Given the description of an element on the screen output the (x, y) to click on. 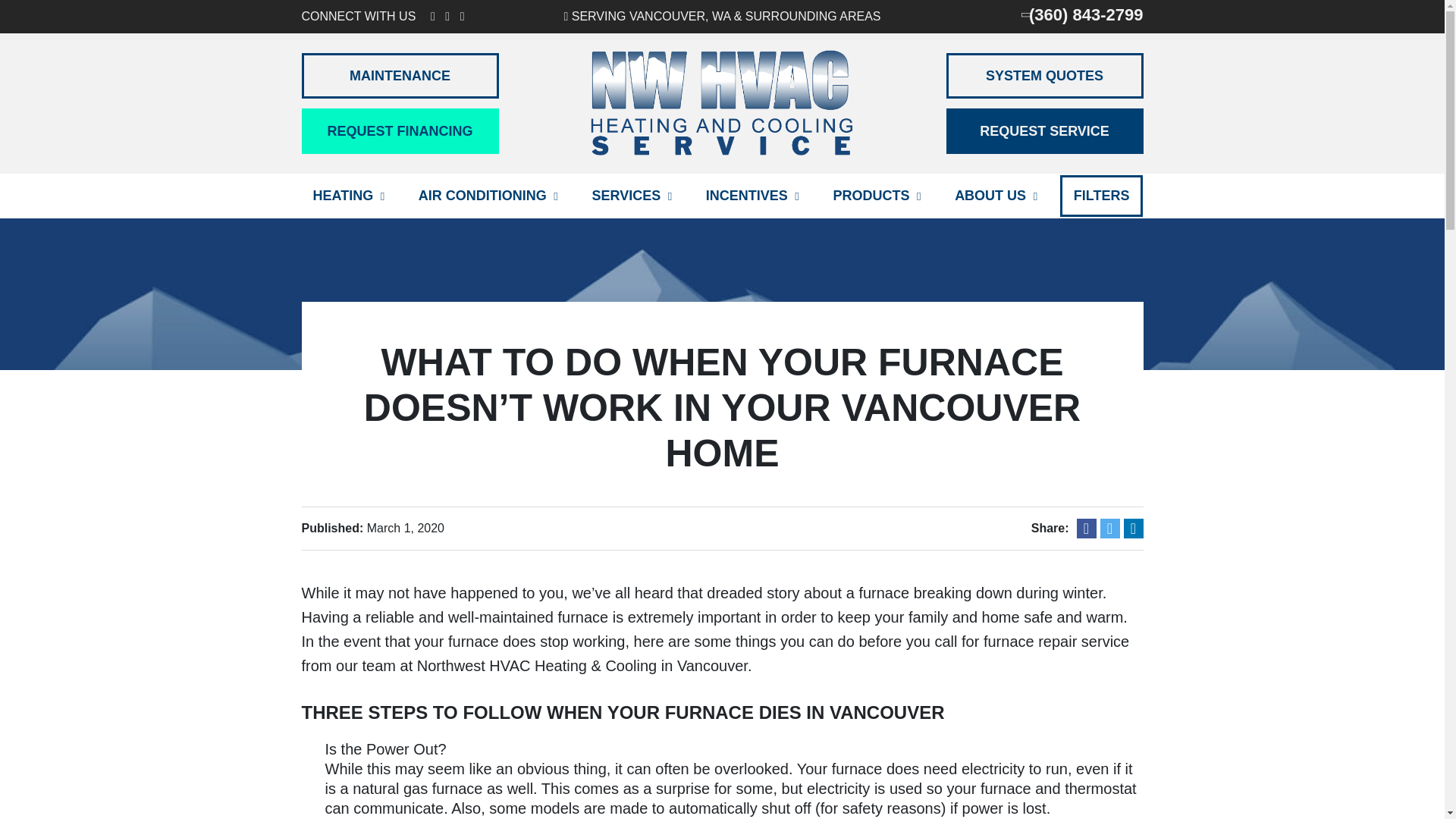
PRODUCTS (876, 195)
HEATING (348, 195)
REQUEST FINANCING (400, 130)
AIR CONDITIONING (488, 195)
REQUEST SERVICE (1044, 130)
MAINTENANCE (400, 75)
SERVICES (630, 195)
SYSTEM QUOTES (1044, 75)
INCENTIVES (752, 195)
